Given the description of an element on the screen output the (x, y) to click on. 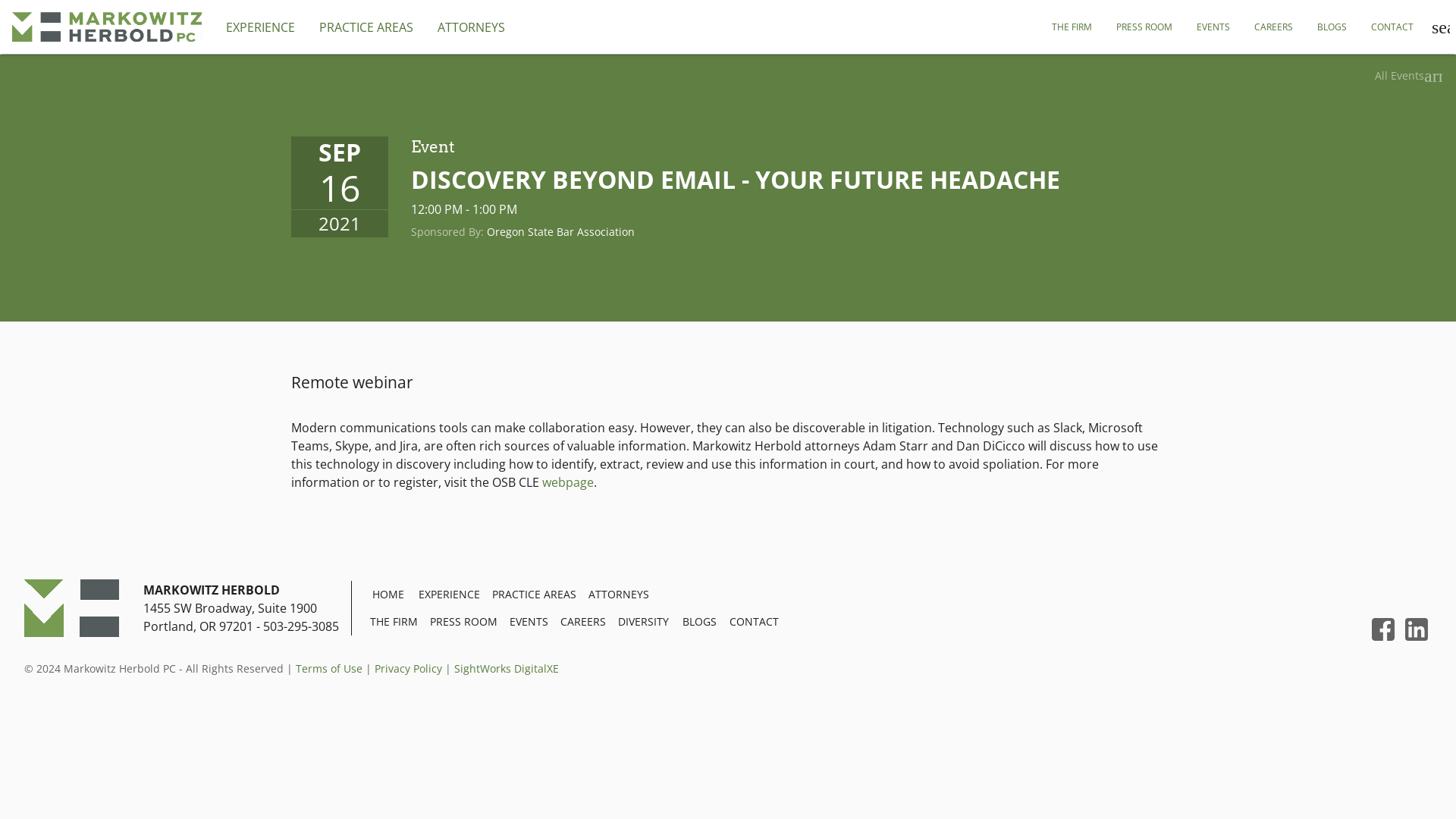
CONTACT (753, 622)
SightWorks DigitalXE (506, 667)
CAREERS (1272, 27)
ATTORNEYS (470, 26)
EXPERIENCE (449, 594)
PRACTICE AREAS (534, 594)
DIVERSITY (643, 622)
EXPERIENCE (260, 26)
Terms of Use (328, 667)
HOME (388, 594)
BLOGS (699, 622)
CONTACT (1391, 27)
webpage (567, 482)
Privacy Policy (408, 667)
PRACTICE AREAS (366, 26)
